Given the description of an element on the screen output the (x, y) to click on. 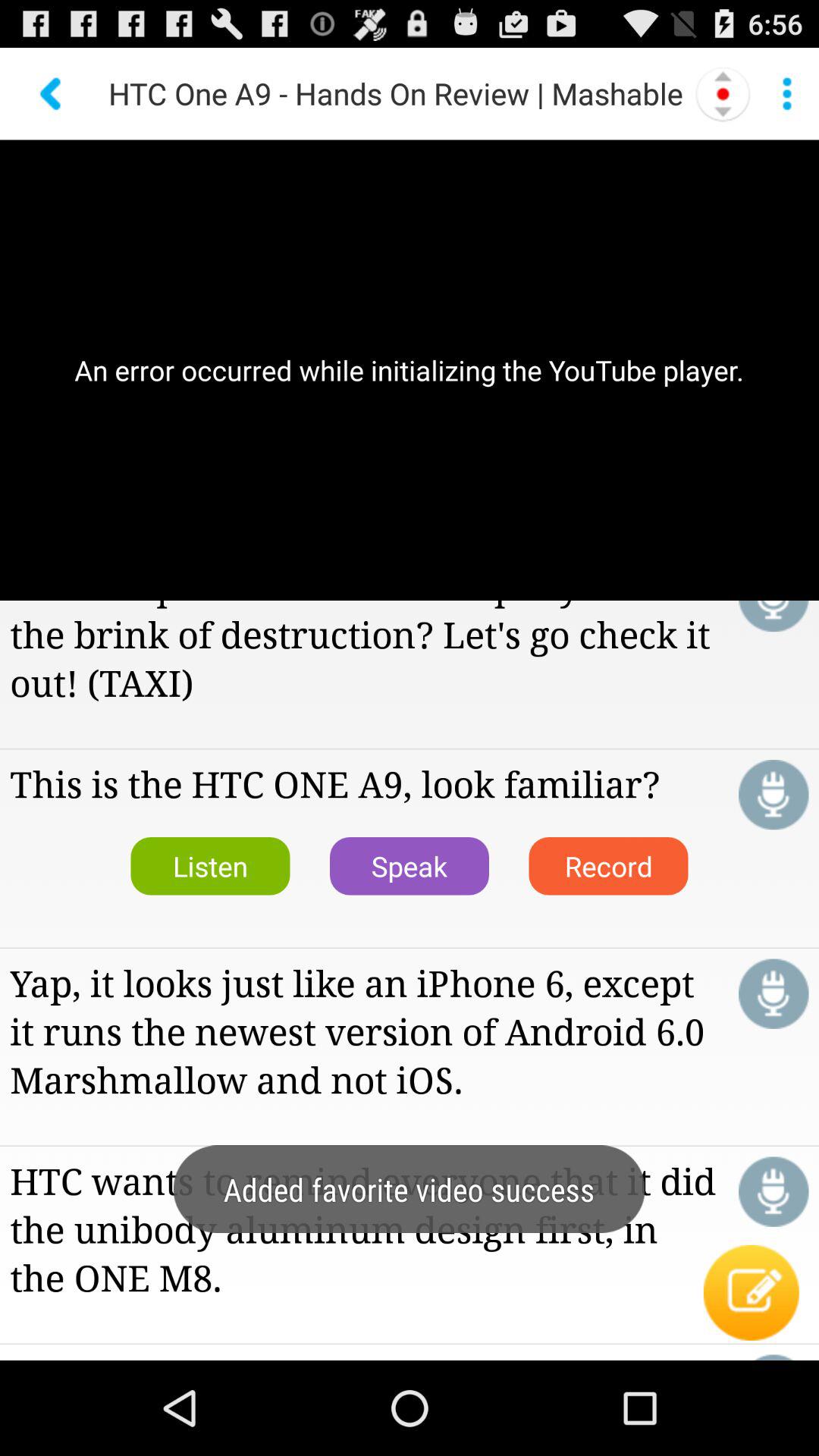
menu (787, 93)
